Given the description of an element on the screen output the (x, y) to click on. 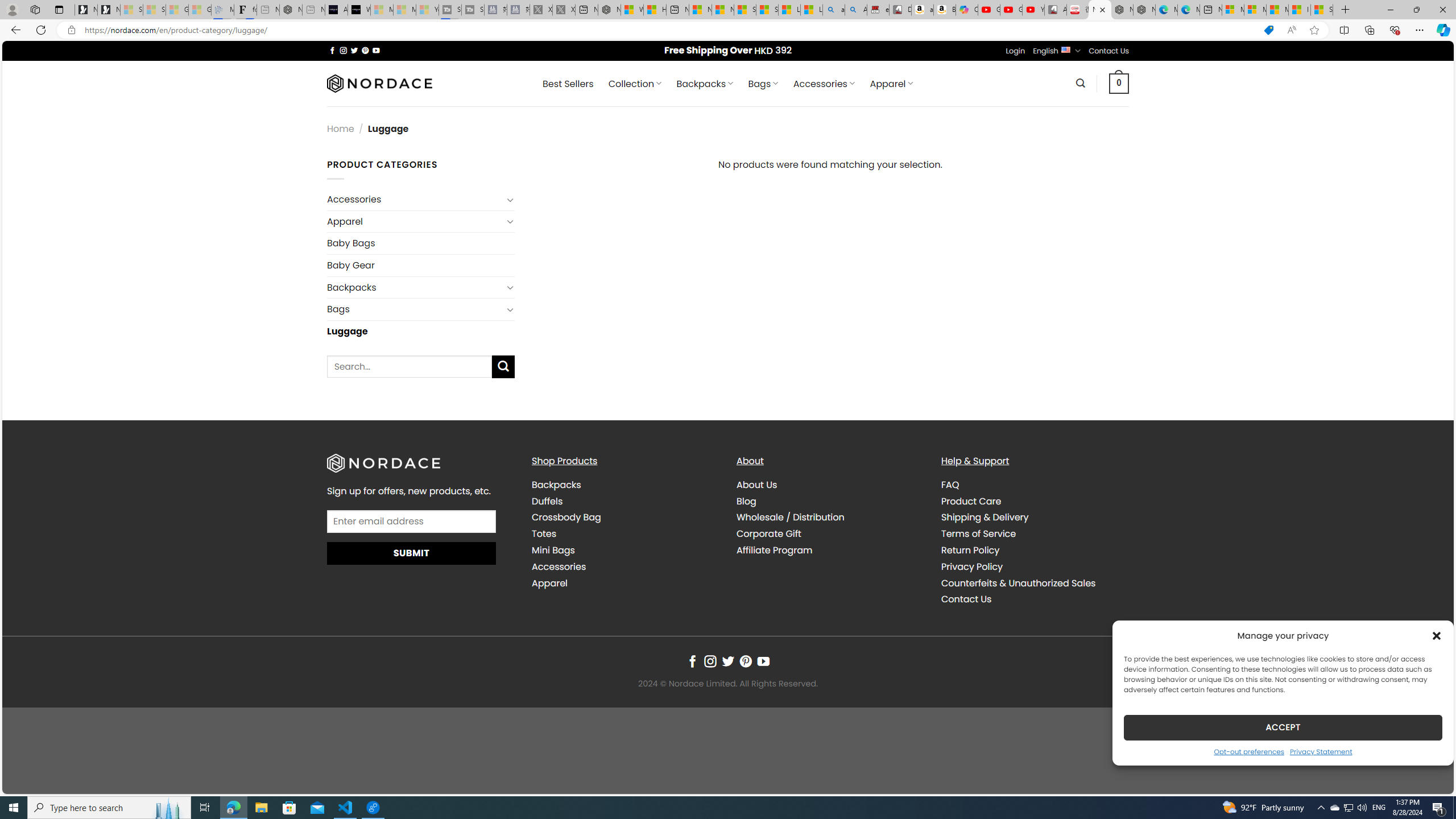
Privacy Policy (1034, 566)
Privacy Statement (1321, 750)
Newsletter Sign Up (109, 9)
Baby Bags (421, 242)
